Given the description of an element on the screen output the (x, y) to click on. 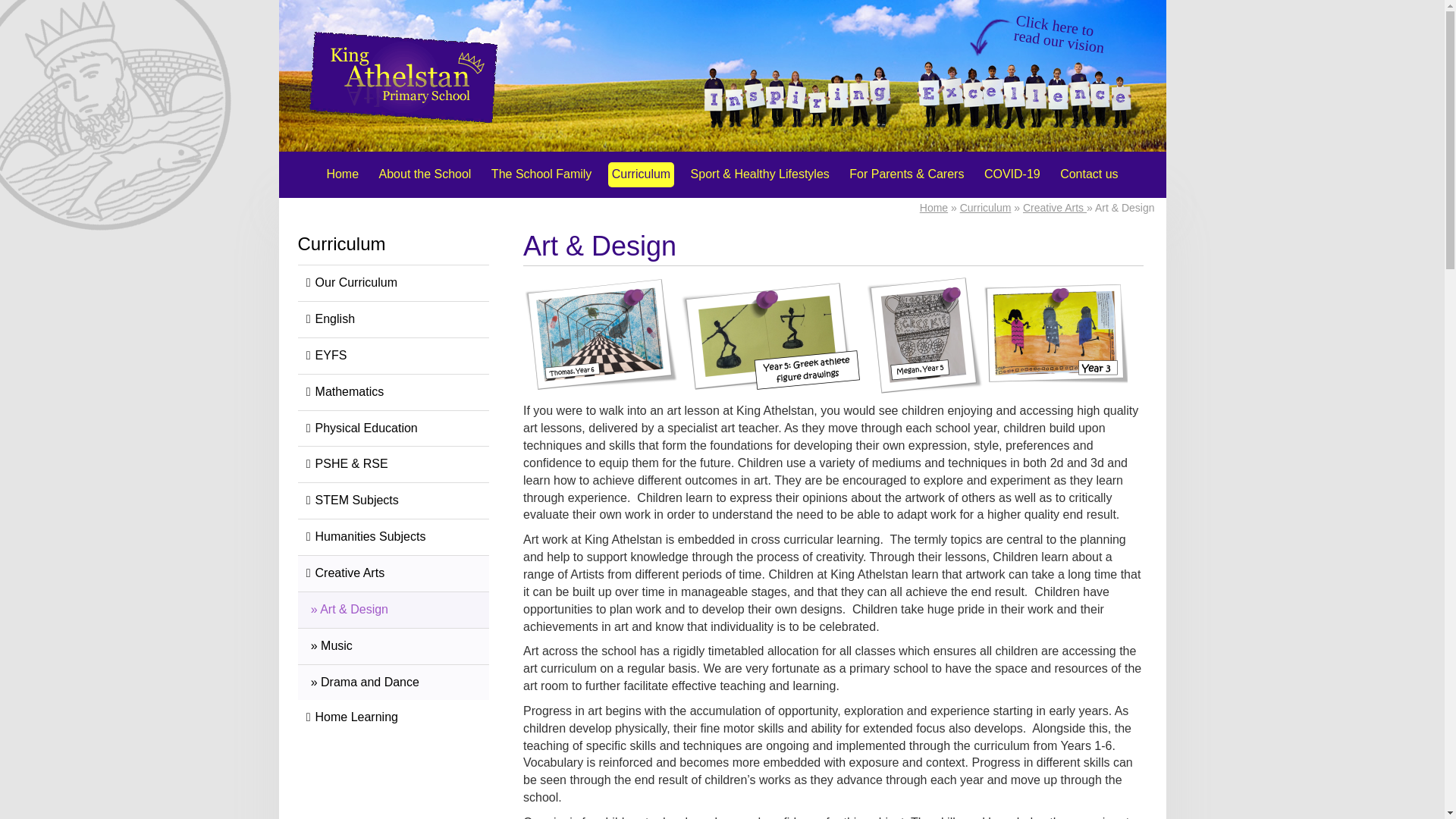
About the School (425, 174)
Go to the Our Curriculum page (393, 283)
Go to the STEM Subjects  page (393, 501)
King Athelstan Primary School (403, 77)
Go to the Humanities Subjects  page (393, 537)
Go to the Drama and Dance  page (393, 682)
Go to the Physical Education  page (393, 429)
Go to the Home Learning page (393, 717)
The School Family (541, 174)
Go to the Mathematics page (393, 392)
Curriculum (641, 174)
Go to the Music page (393, 646)
Go to the EYFS page (393, 356)
Home (341, 174)
Go to the Creative Arts  page (393, 574)
